Given the description of an element on the screen output the (x, y) to click on. 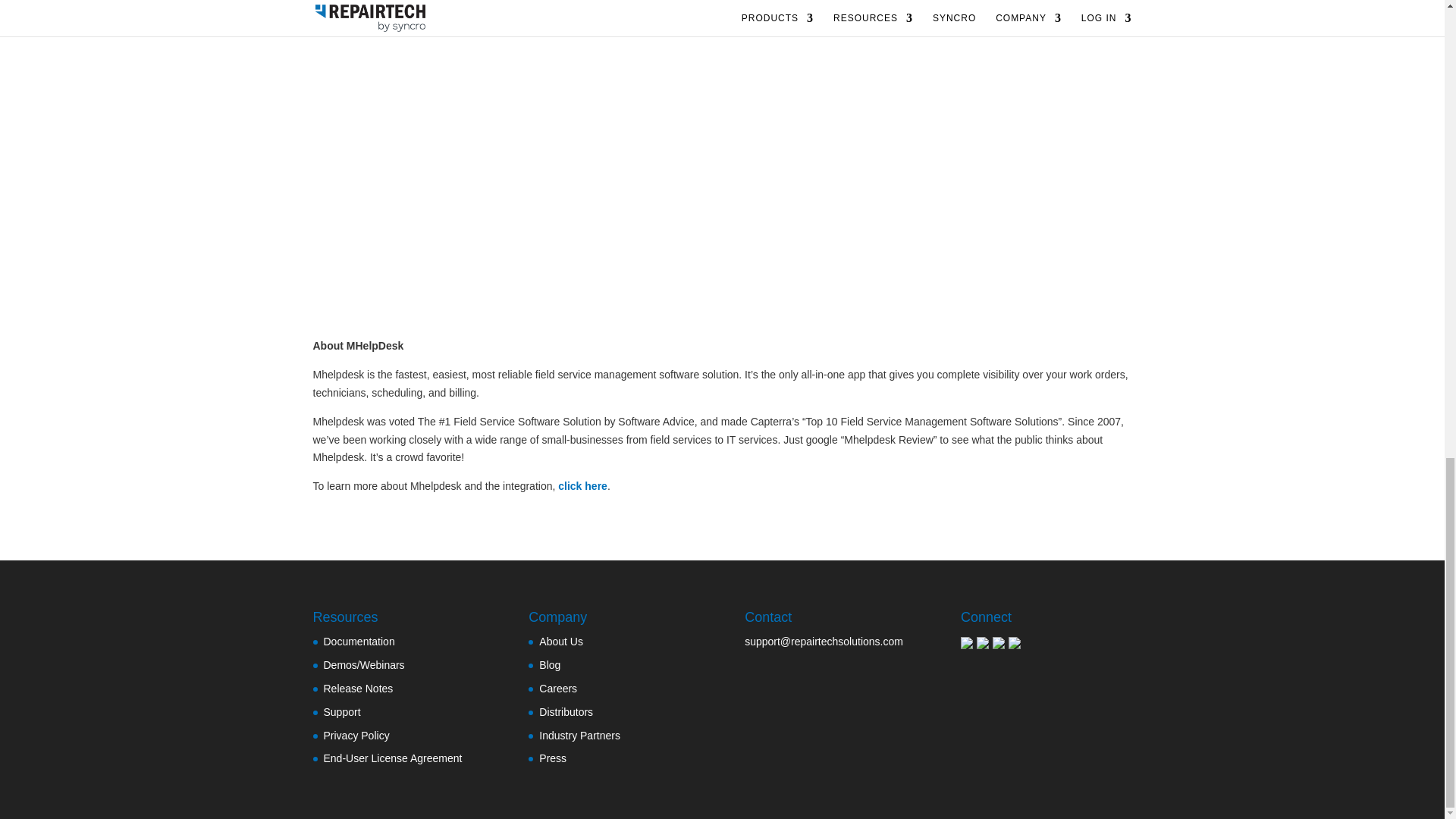
Documentation (358, 641)
Industry Partners (579, 735)
Careers (557, 688)
Support (341, 711)
Press (552, 758)
End-User License Agreement (392, 758)
Privacy Policy (355, 735)
Release Notes (358, 688)
Distributors (565, 711)
About Us (560, 641)
